Given the description of an element on the screen output the (x, y) to click on. 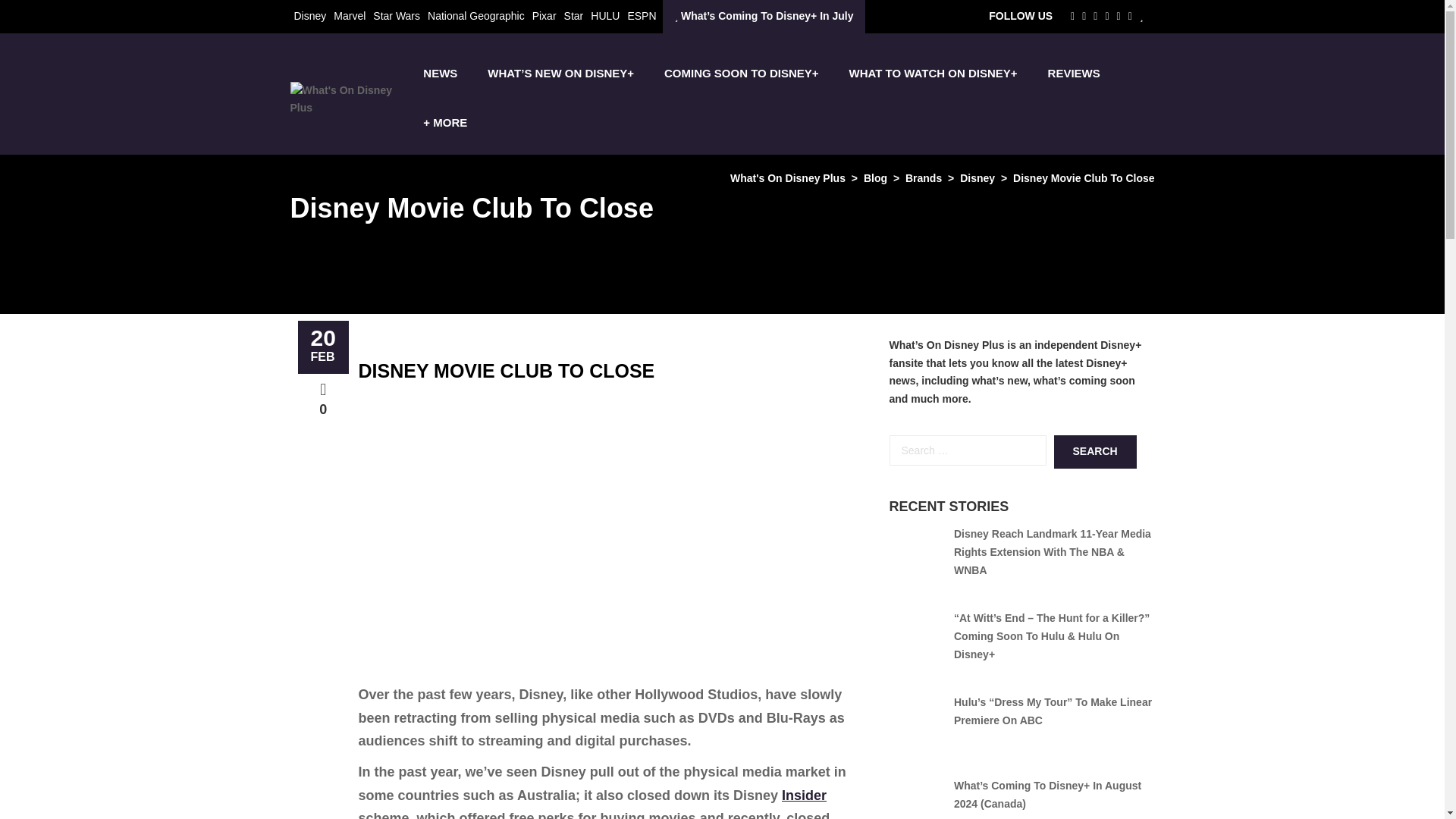
HULU (605, 15)
Star Wars (396, 15)
NEWS (439, 72)
National Geographic (476, 15)
Go to What's On Disney Plus. (787, 177)
Marvel (349, 15)
Disney (310, 15)
REVIEWS (1073, 72)
Go to the Disney Category archives. (976, 177)
ESPN (641, 15)
Star (573, 15)
Search (1095, 451)
Pixar (544, 15)
Search (1095, 451)
Go to Blog. (874, 177)
